Given the description of an element on the screen output the (x, y) to click on. 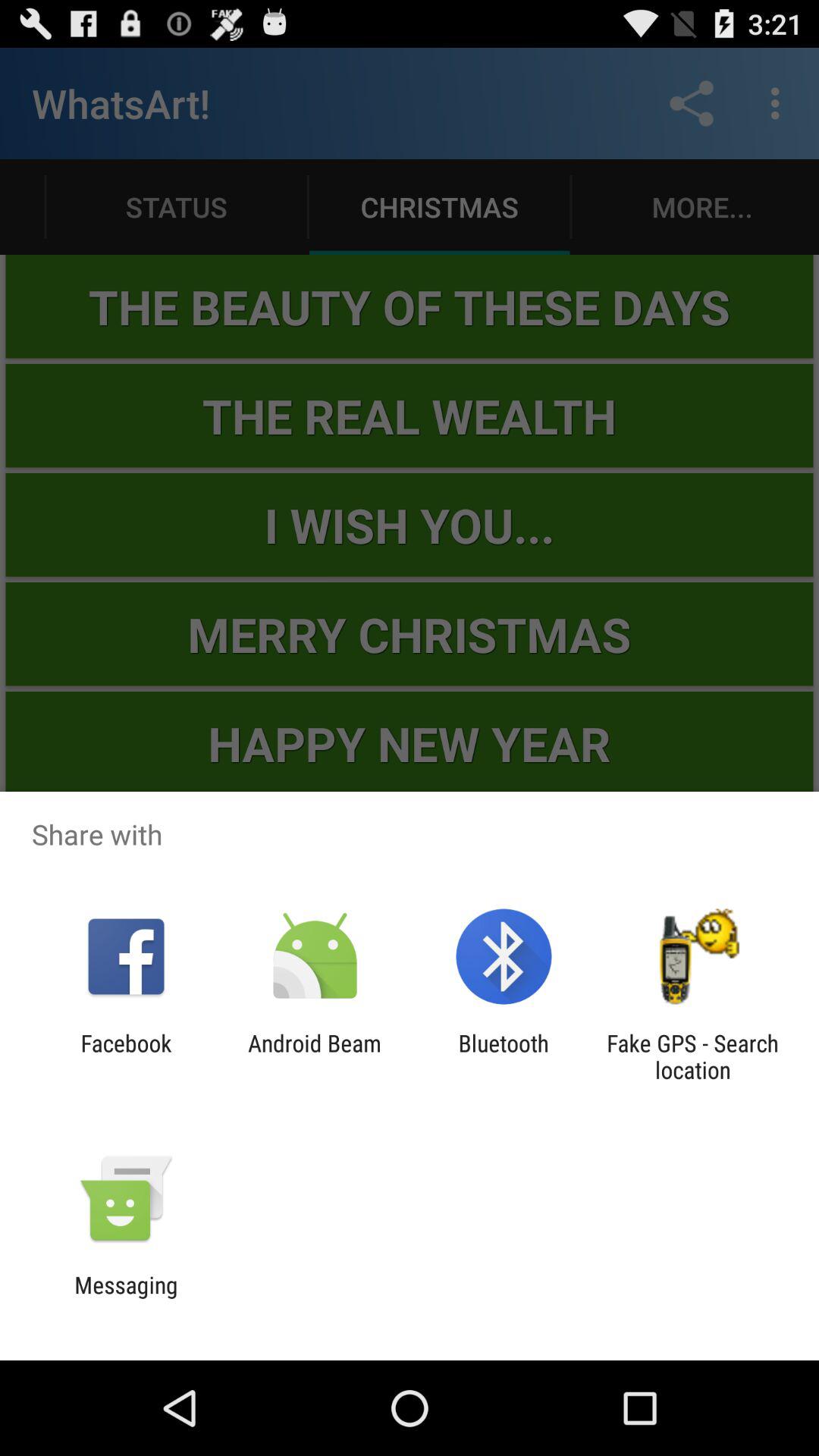
select the item next to bluetooth item (314, 1056)
